Given the description of an element on the screen output the (x, y) to click on. 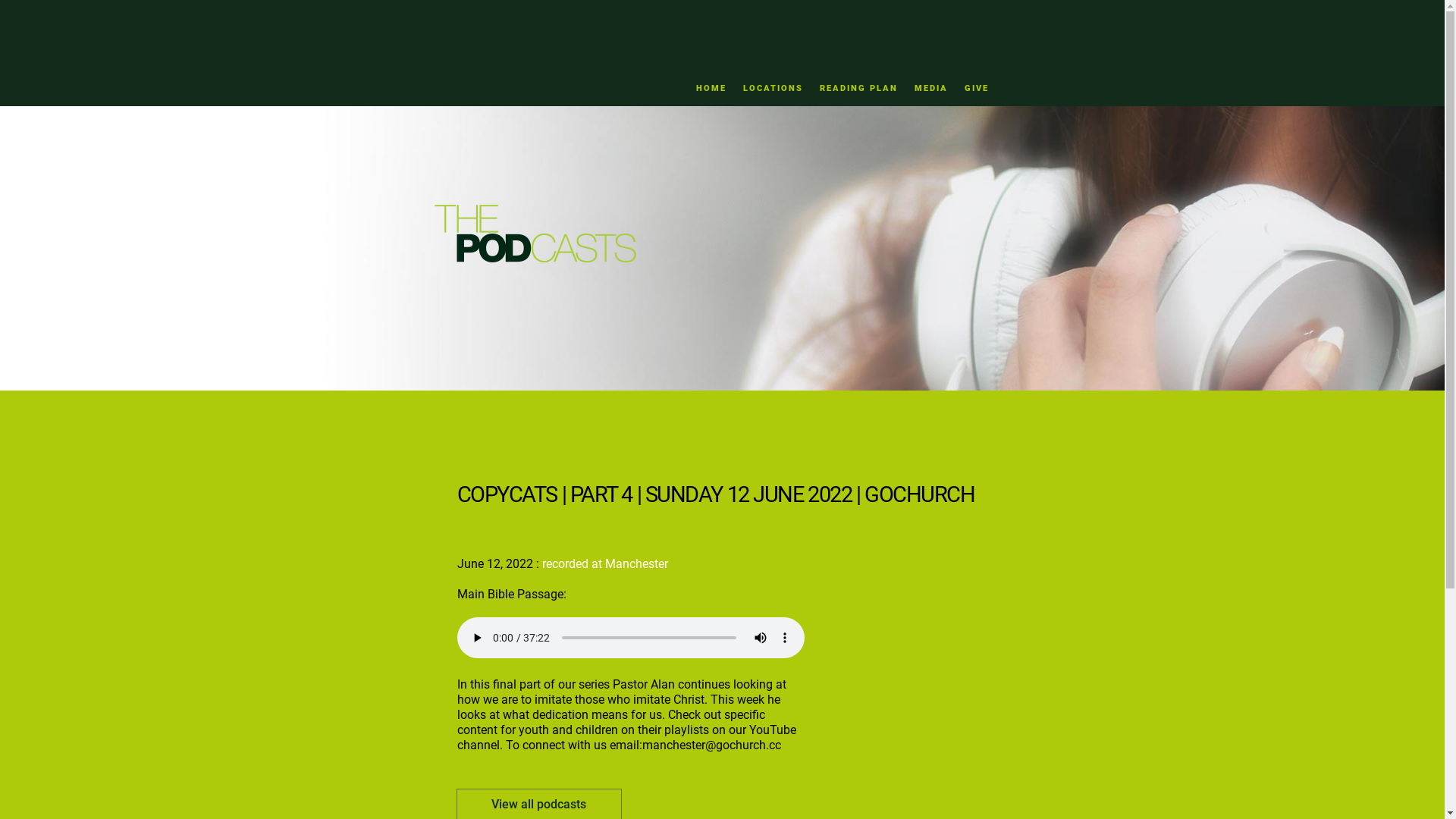
LOCATIONS Element type: text (773, 88)
HOME Element type: text (711, 88)
READING PLAN Element type: text (858, 88)
GIVE Element type: text (976, 88)
MEDIA Element type: text (930, 88)
